Given the description of an element on the screen output the (x, y) to click on. 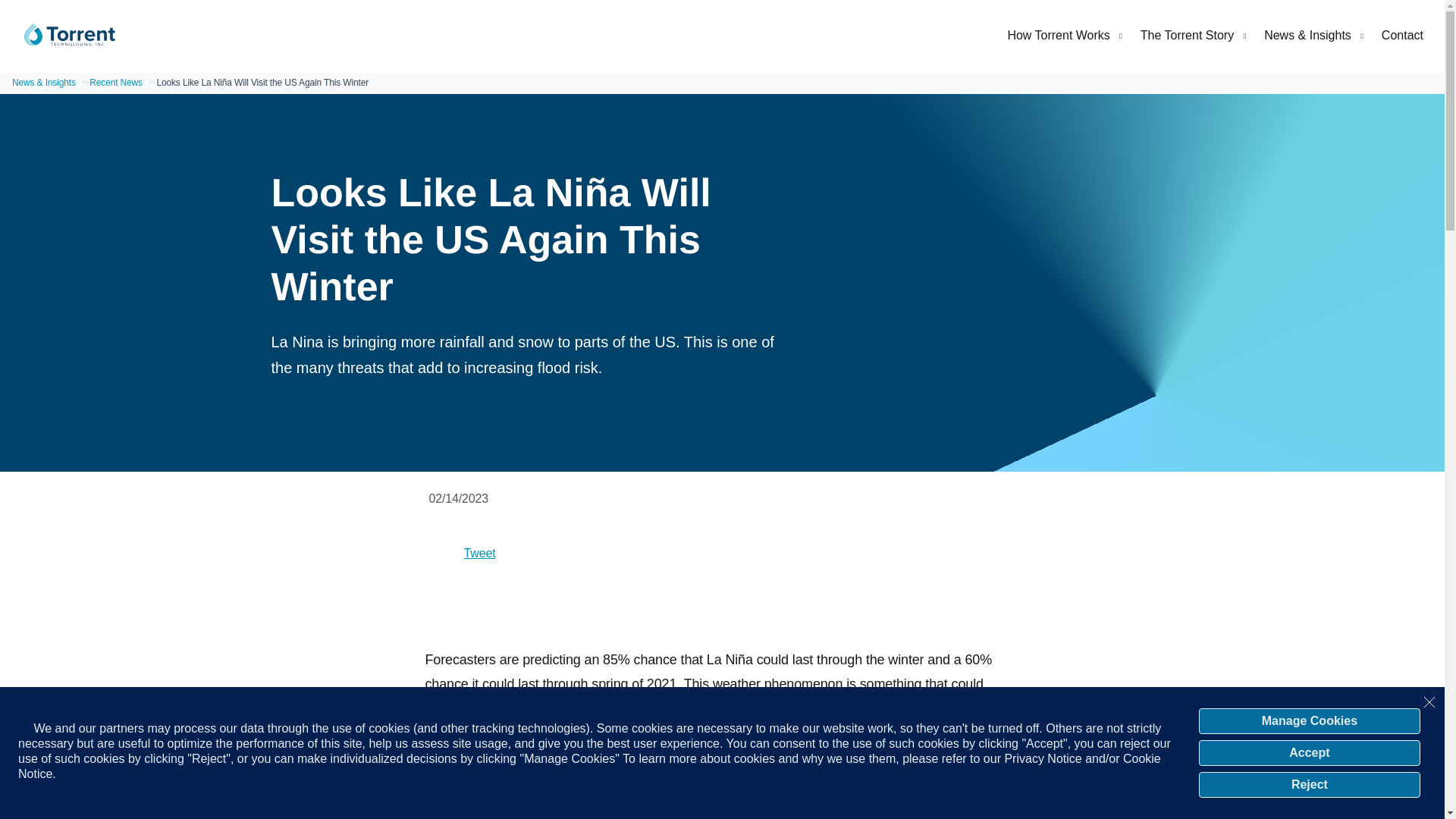
Accept (1309, 752)
Reject (1309, 784)
How Torrent Works (1064, 33)
Manage Cookies (1309, 720)
Contact (1402, 33)
Contact (1402, 33)
Skip to main content (731, 10)
Tweet (480, 553)
Recent News (115, 81)
The Torrent Story (1193, 33)
